Given the description of an element on the screen output the (x, y) to click on. 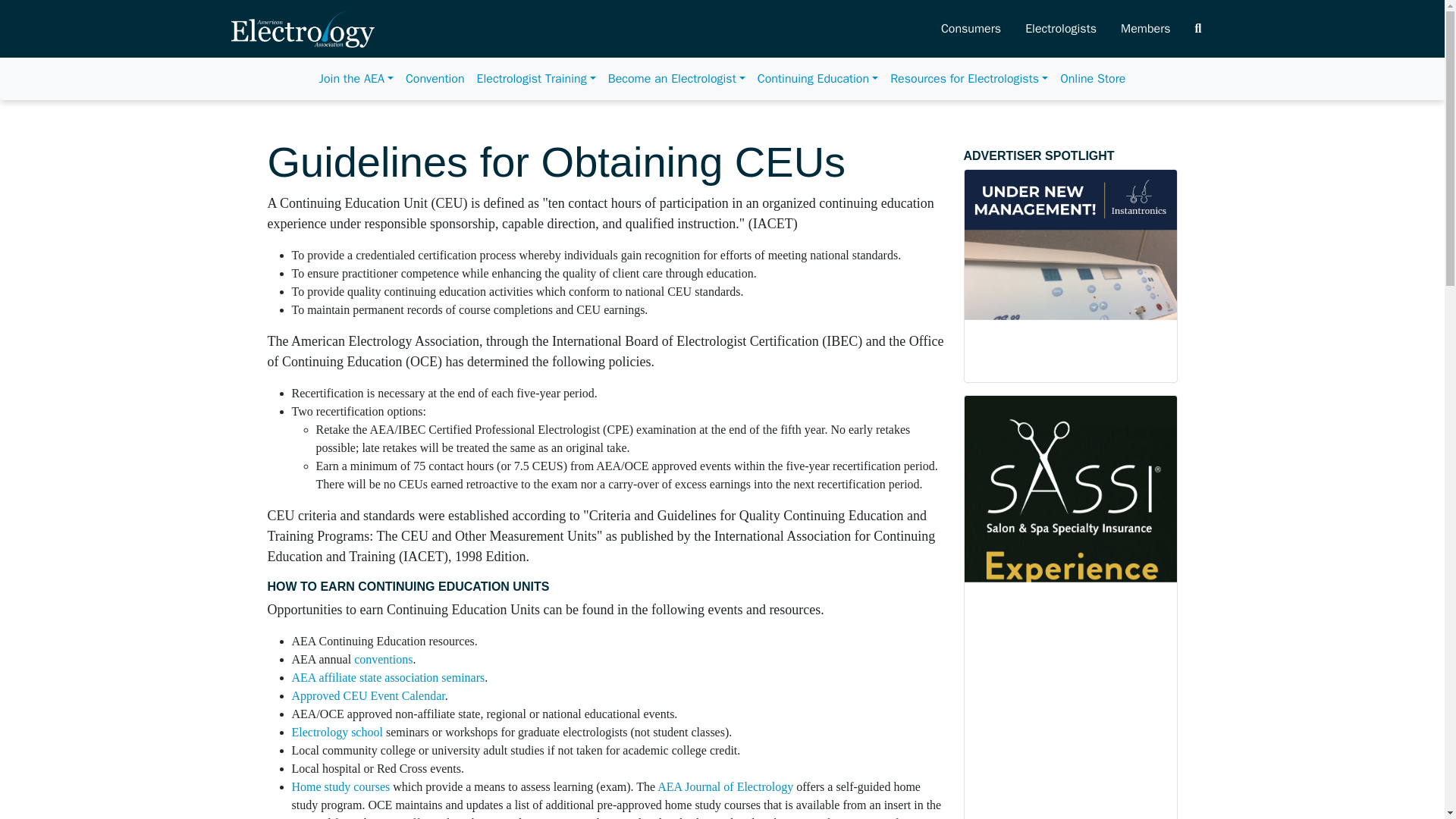
Members (1145, 28)
Join the AEA (355, 78)
Continuing Education (817, 78)
Consumers (970, 28)
American Electrology Association (302, 28)
Convention (434, 78)
Resources for Electrologists (968, 78)
Electrologists (1060, 28)
Become an Electrologist (676, 78)
Instantronics (1069, 275)
